Given the description of an element on the screen output the (x, y) to click on. 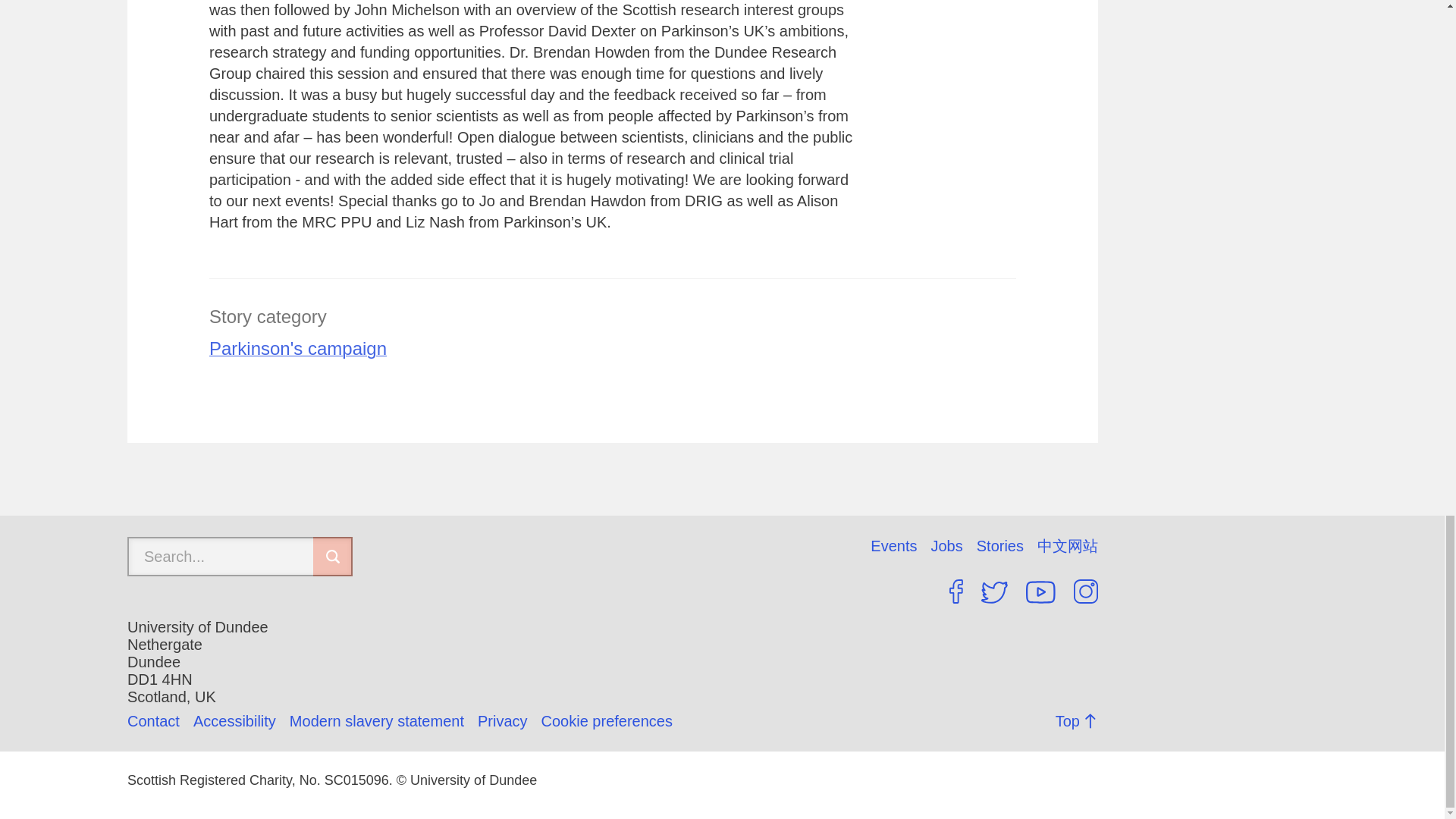
Twitter (994, 592)
Explore our Chinese language website  (1066, 546)
Instagram (1085, 591)
Youtube (1040, 591)
Find events that are happening at the University of Dundee (900, 546)
